Given the description of an element on the screen output the (x, y) to click on. 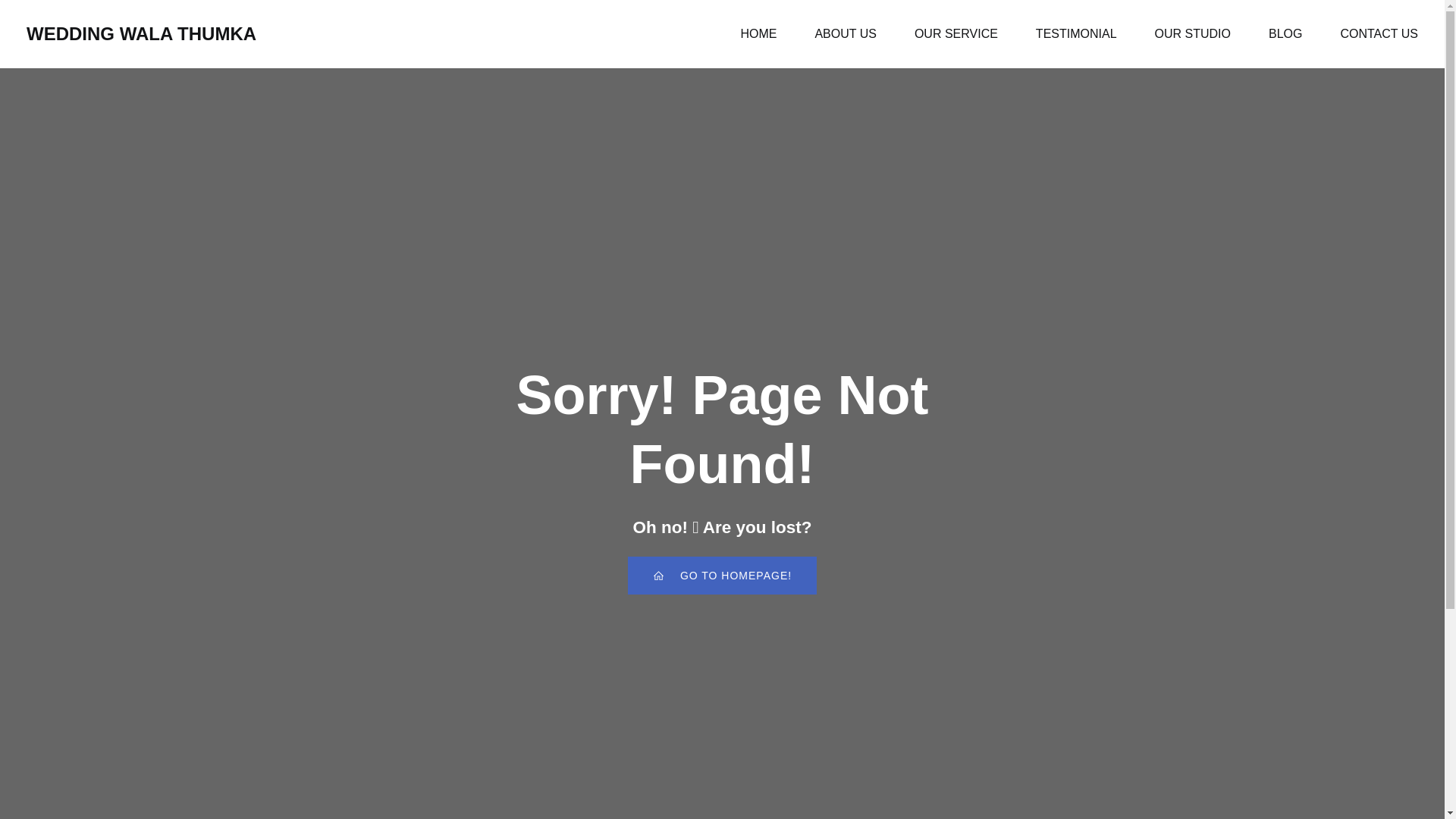
OUR STUDIO (1192, 33)
TESTIMONIAL (1075, 33)
CONTACT US (1378, 33)
ABOUT US (844, 33)
GO TO HOMEPAGE! (721, 575)
HOME (757, 33)
OUR SERVICE (955, 33)
WEDDING WALA THUMKA (141, 33)
BLOG (1284, 33)
